Given the description of an element on the screen output the (x, y) to click on. 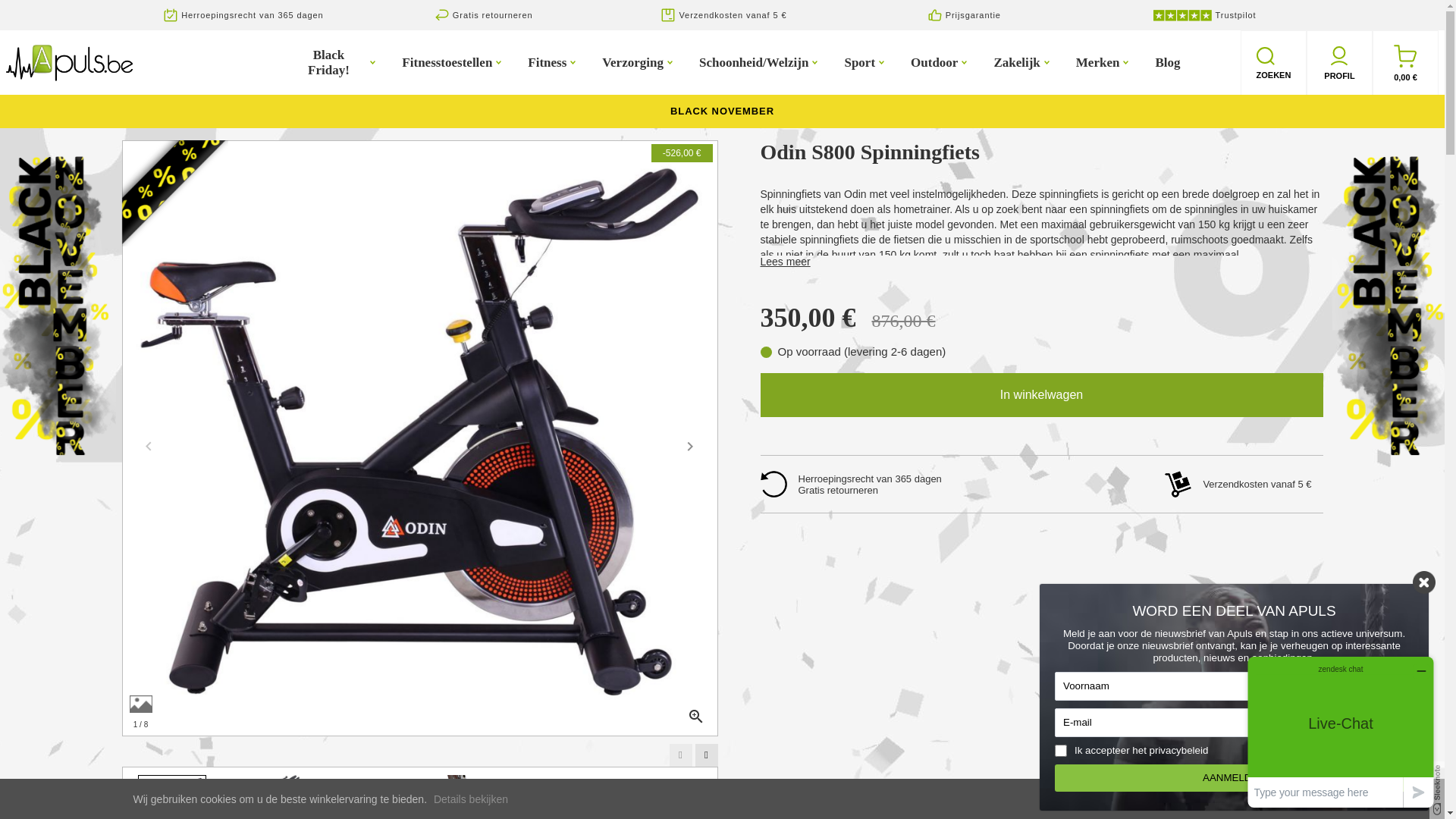
Opens a widget where you can chat to one of our agents Element type: hover (1340, 731)
ZOEKEN Element type: text (1273, 63)
Zakelijk Element type: text (1022, 62)
keyboard_arrow_right Element type: text (688, 446)
Blog Element type: text (1167, 62)
PROFIL Element type: text (1339, 63)
Prijsgarantie Element type: text (962, 14)
Details bekijken Element type: text (470, 799)
Gratis retourneren Element type: text (482, 14)
Trustpilot Element type: text (1202, 14)
Sport Element type: text (865, 62)
keyboard_arrow_left Element type: text (147, 446)
Black Friday! Element type: text (322, 62)
In winkelwagen Element type: text (1040, 395)
Herroepingsrecht van 365 dagen Element type: text (241, 14)
Verzorging Element type: text (638, 62)
Homepage Element type: hover (69, 62)
Fitnesstoestellen Element type: text (453, 62)
Outdoor Element type: text (940, 62)
Merken Element type: text (1104, 62)
Schoonheid/Welzijn Element type: text (760, 62)
